Given the description of an element on the screen output the (x, y) to click on. 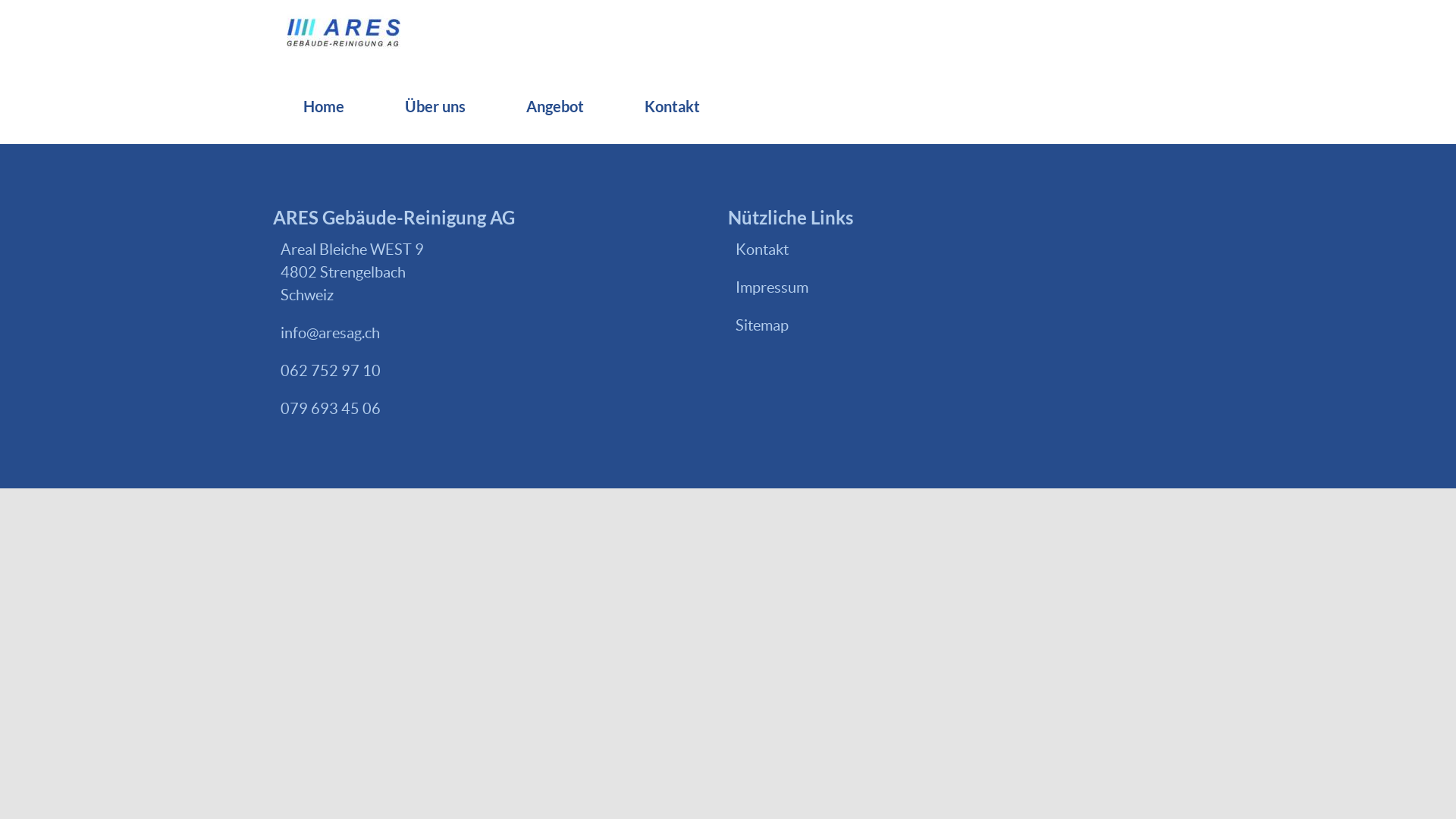
Kontakt Element type: text (672, 106)
Impressum Element type: text (944, 287)
Kontakt Element type: text (944, 249)
Home Element type: text (323, 106)
Home Element type: hover (343, 34)
Areal Bleiche WEST 9
4802 Strengelbach
Schweiz Element type: text (489, 249)
Angebot Element type: text (554, 106)
Sitemap Element type: text (944, 324)
info@aresag.ch Element type: text (489, 332)
